Given the description of an element on the screen output the (x, y) to click on. 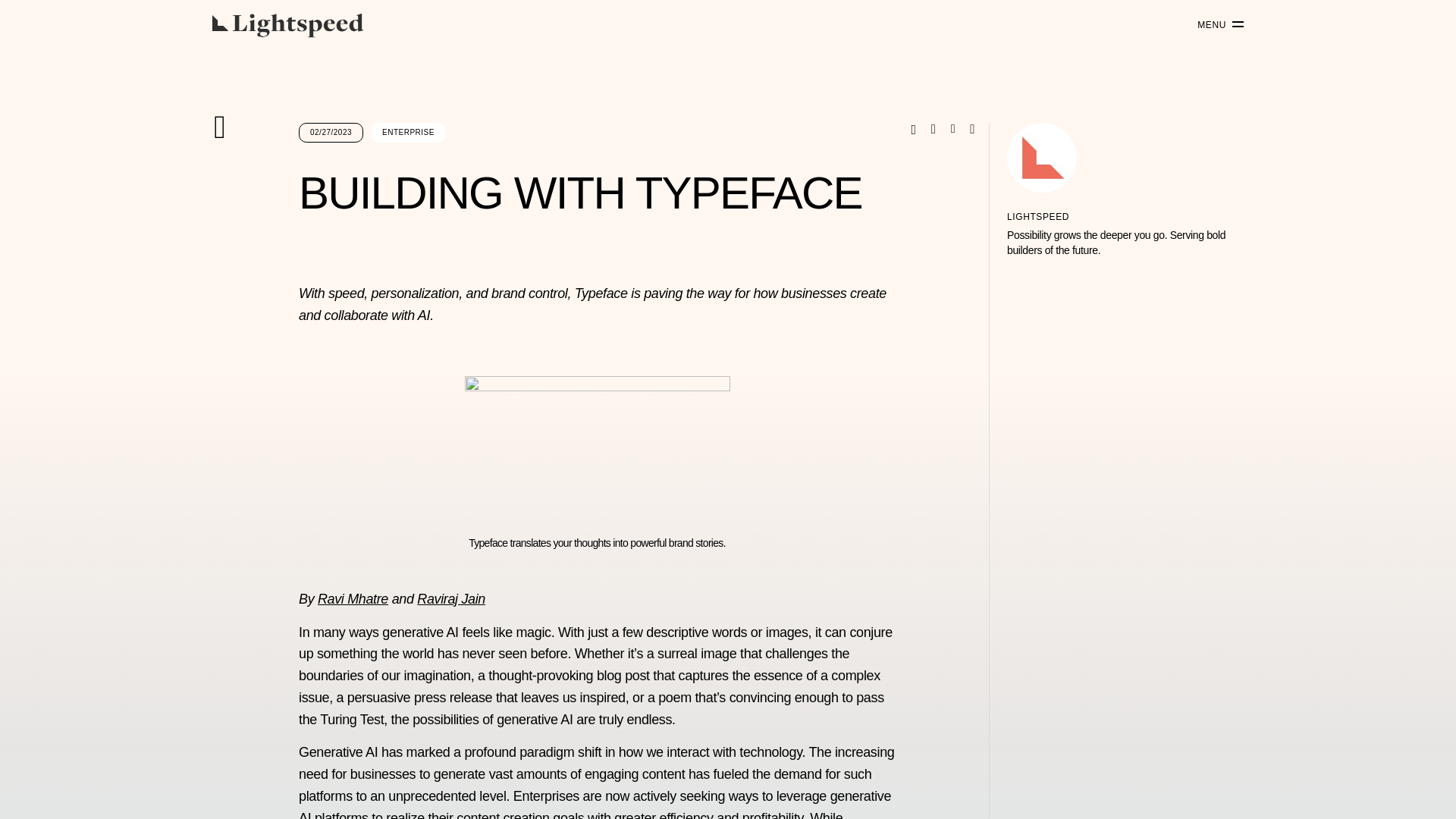
Ravi Mhatre (352, 598)
Raviraj Jain (450, 598)
MENU (1214, 25)
